Given the description of an element on the screen output the (x, y) to click on. 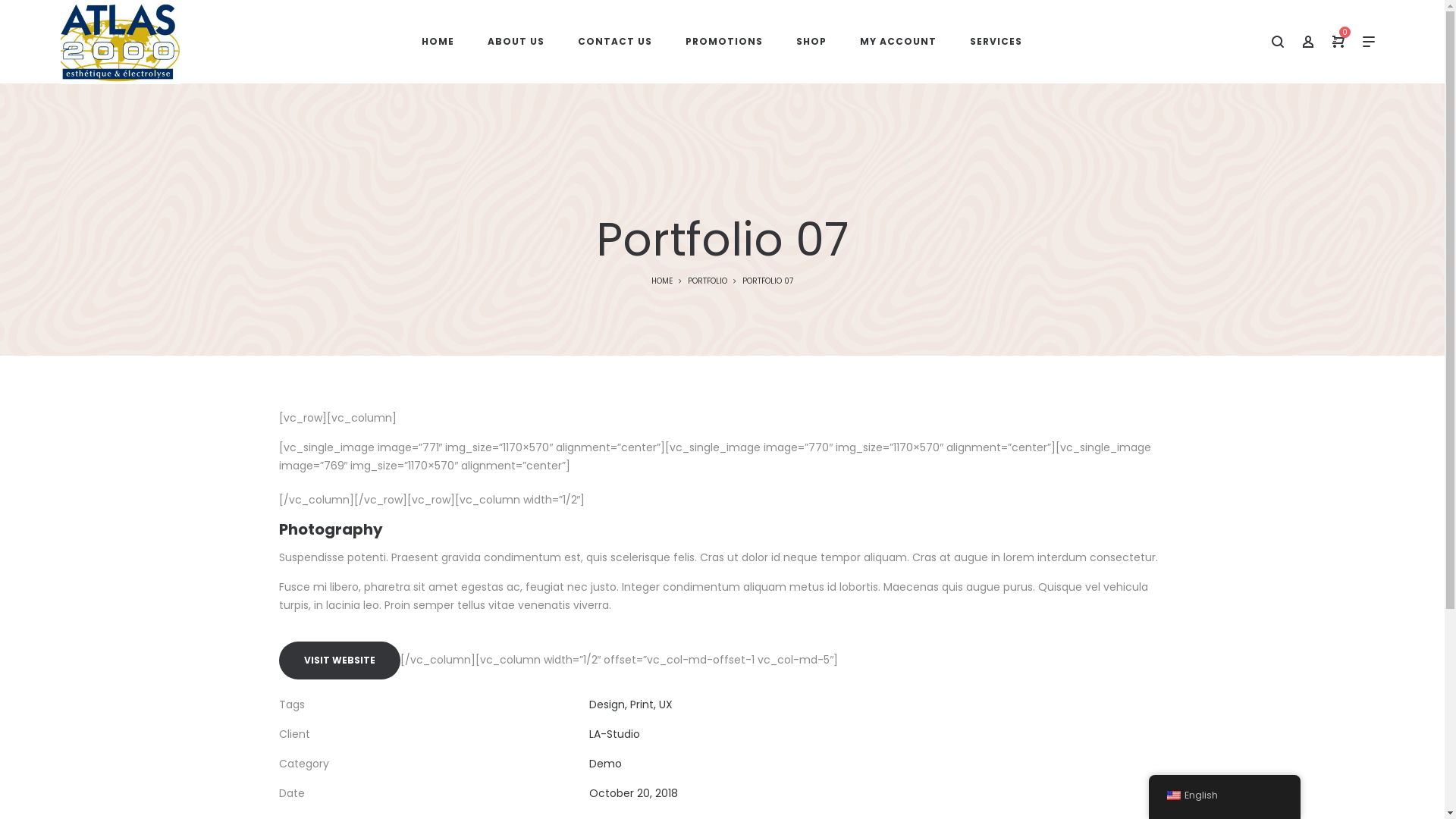
UX Element type: text (665, 704)
CONTACT US Element type: text (614, 41)
Print Element type: text (641, 704)
Design Element type: text (606, 704)
Demo Element type: text (605, 763)
English Element type: hover (1172, 795)
HOME Element type: text (661, 280)
SHOP Element type: text (810, 41)
SERVICES Element type: text (995, 41)
VISIT WEBSITE Element type: text (339, 660)
PROMOTIONS Element type: text (724, 41)
HOME Element type: text (437, 41)
ABOUT US Element type: text (515, 41)
0 Element type: text (1338, 41)
MY ACCOUNT Element type: text (897, 41)
PORTFOLIO Element type: text (707, 280)
English Element type: text (1223, 795)
